Given the description of an element on the screen output the (x, y) to click on. 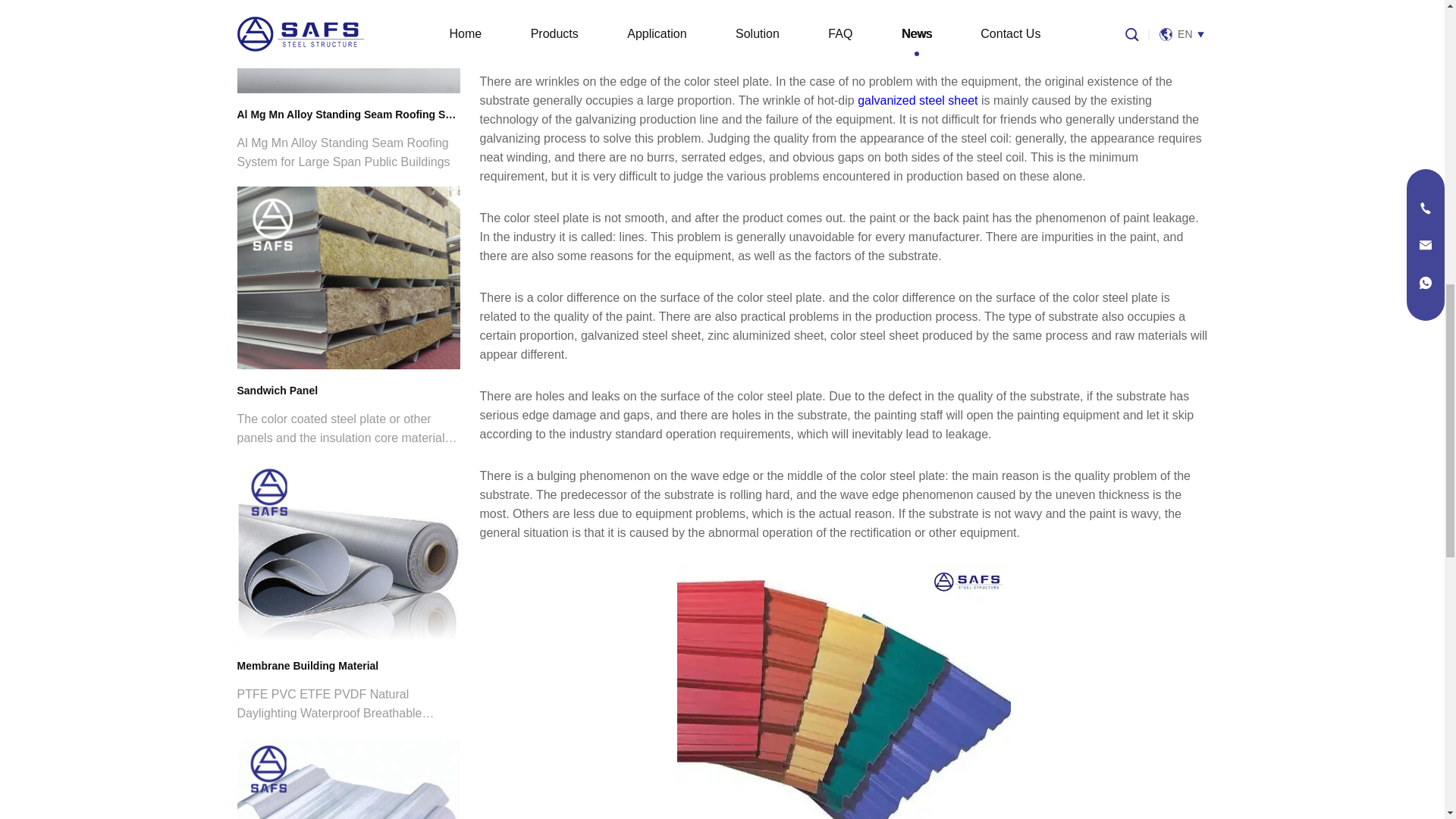
Al Mg Mn Alloy Standing Seam Roofing System (347, 114)
Sandwich Panel (347, 277)
Day Lighting Sheet (347, 778)
Al Mg Mn Alloy Standing Seam Roofing System (347, 46)
Membrane Building Material (347, 553)
